Given the description of an element on the screen output the (x, y) to click on. 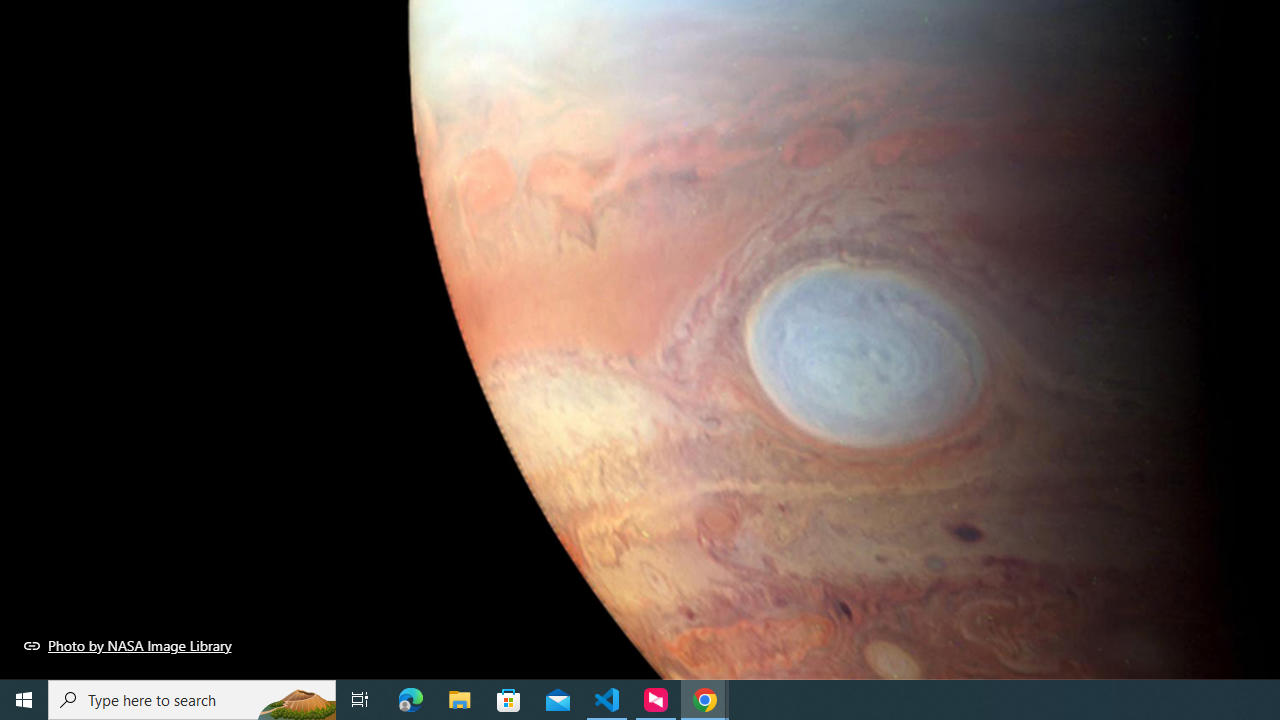
Photo by NASA Image Library (127, 645)
